Given the description of an element on the screen output the (x, y) to click on. 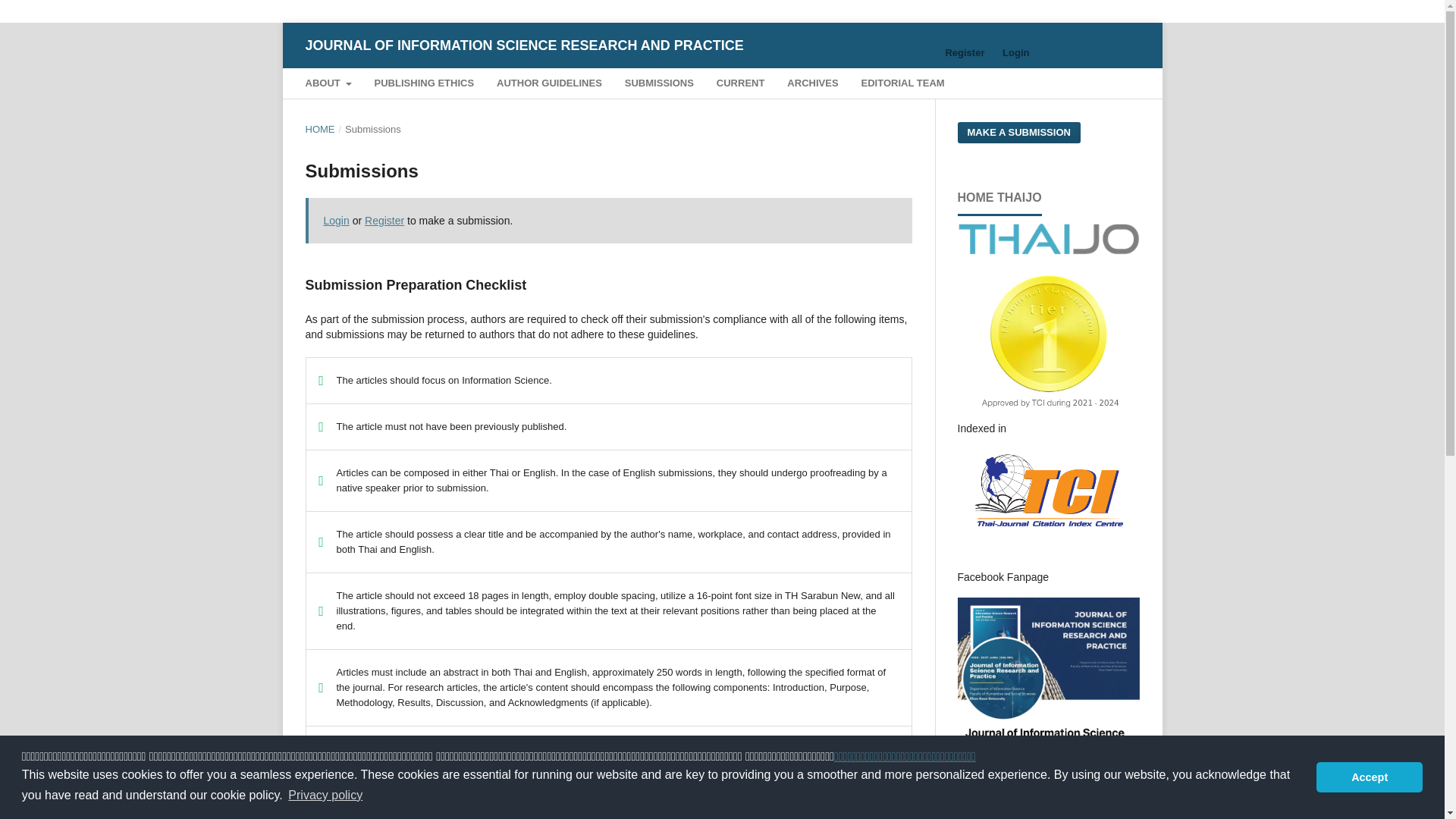
SUBMISSIONS (659, 85)
EDITORIAL TEAM (902, 85)
MAKE A SUBMISSION (1018, 132)
Accept (1369, 777)
Register (964, 52)
HOME (319, 129)
Register (384, 220)
ABOUT (327, 85)
Login (336, 220)
ARCHIVES (813, 85)
Login (1015, 52)
AUTHOR GUIDELINES (549, 85)
JOURNAL OF INFORMATION SCIENCE RESEARCH AND PRACTICE (523, 45)
Privacy policy (1364, 810)
Search (1107, 85)
